Given the description of an element on the screen output the (x, y) to click on. 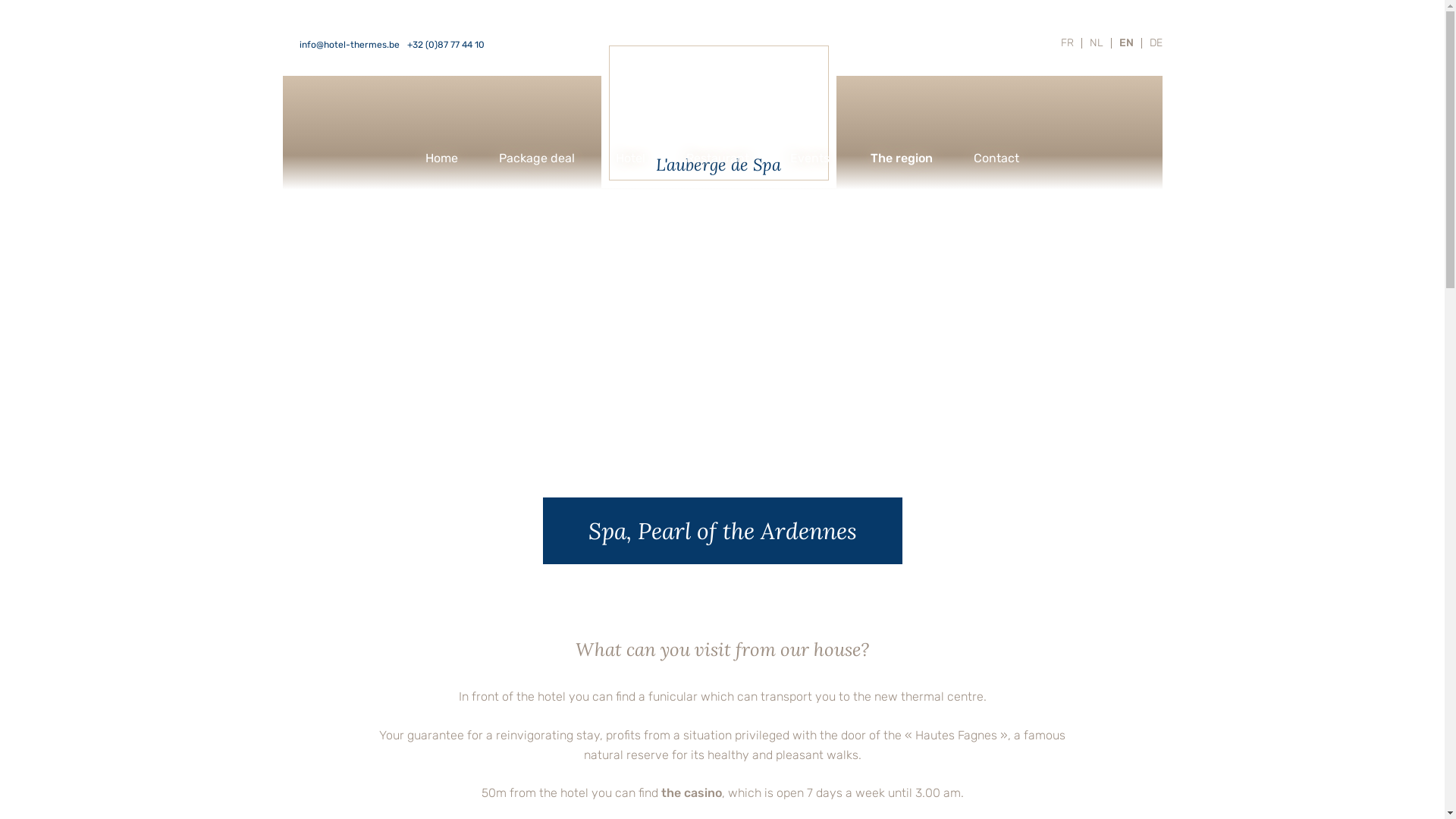
+32 (0)87 77 44 10 Element type: text (444, 44)
Home Element type: text (441, 158)
Restaurant Element type: text (717, 158)
FR Element type: text (1066, 42)
Hotel Element type: text (630, 158)
NL Element type: text (1095, 42)
EN Element type: text (1126, 42)
Contact Element type: text (996, 158)
Events Element type: text (809, 158)
L'auberge de Spa Element type: text (717, 112)
DE Element type: text (1152, 42)
info@hotel-thermes.be Element type: text (348, 44)
Package deal Element type: text (536, 158)
The region Element type: text (901, 158)
